Given the description of an element on the screen output the (x, y) to click on. 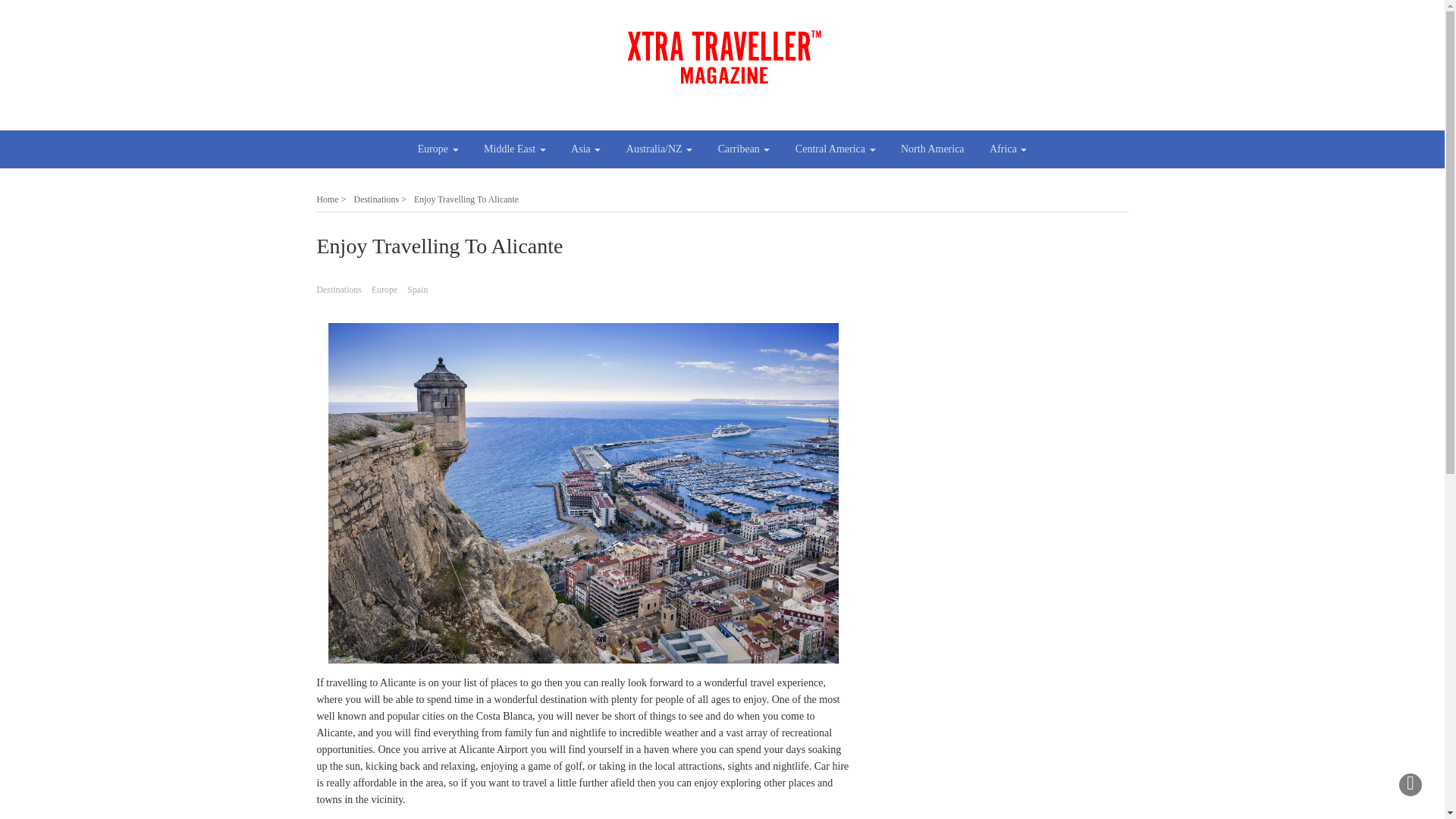
Europe (438, 149)
Europe (438, 149)
